Given the description of an element on the screen output the (x, y) to click on. 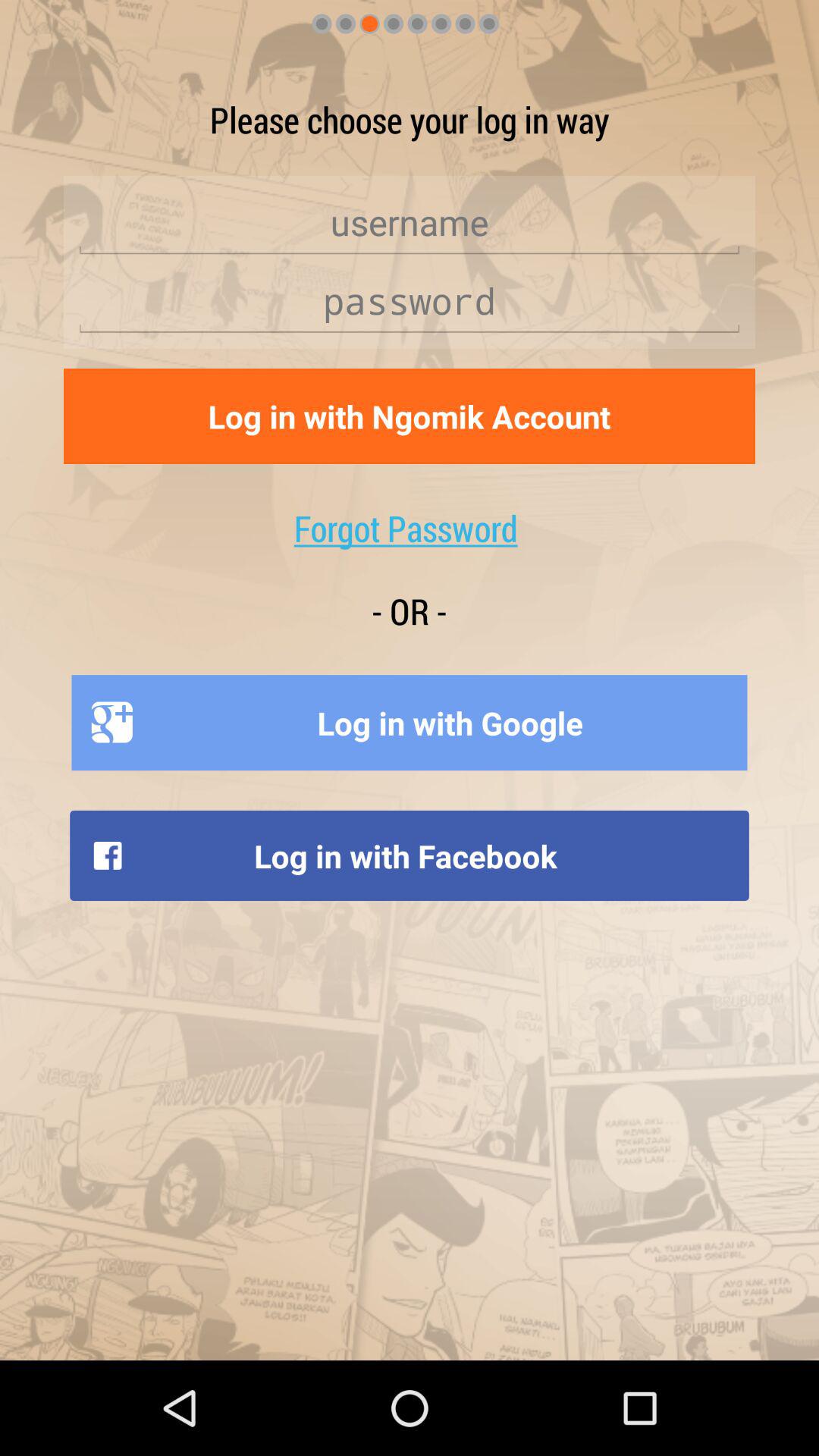
enter name (409, 222)
